Given the description of an element on the screen output the (x, y) to click on. 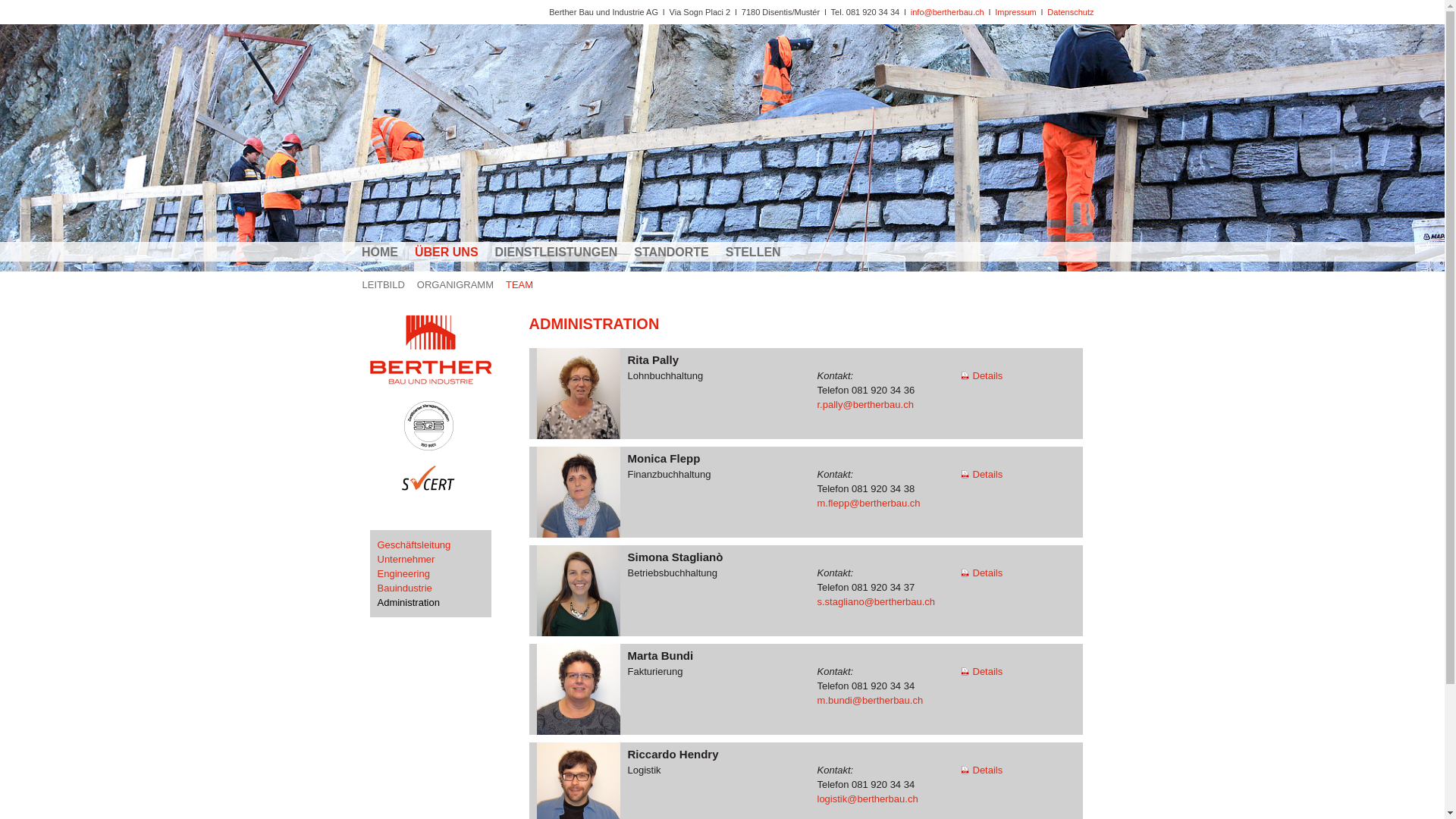
HOME Element type: text (388, 251)
s.stagliano@bertherbau.ch Element type: text (876, 601)
Engineering Element type: text (403, 573)
DIENSTLEISTUNGEN Element type: text (564, 251)
Impressum Element type: text (1014, 11)
Details Element type: text (982, 572)
ORGANIGRAMM Element type: text (461, 286)
Marta Bundi Element type: hover (578, 693)
LEITBILD Element type: text (389, 286)
Details Element type: text (982, 375)
m.flepp@bertherbau.ch Element type: text (868, 502)
Administration Element type: text (408, 602)
r.pally@bertherbau.ch Element type: text (865, 404)
STANDORTE Element type: text (679, 251)
SQS Element type: hover (439, 446)
STELLEN Element type: text (761, 251)
m.bundi@bertherbau.ch Element type: text (870, 700)
Monica Flepp Element type: hover (578, 494)
logistik@bertherbau.ch Element type: text (867, 798)
Details Element type: text (982, 474)
Datenschutz Element type: text (1070, 11)
TEAM Element type: text (525, 286)
info@bertherbau.ch Element type: text (947, 11)
Unternehmer Element type: text (406, 558)
Bauindustrie Element type: text (404, 587)
Rita Pally Element type: hover (578, 394)
Details Element type: text (982, 769)
S-Cert AG Element type: hover (439, 503)
Details Element type: text (982, 671)
Home Element type: hover (439, 386)
